Given the description of an element on the screen output the (x, y) to click on. 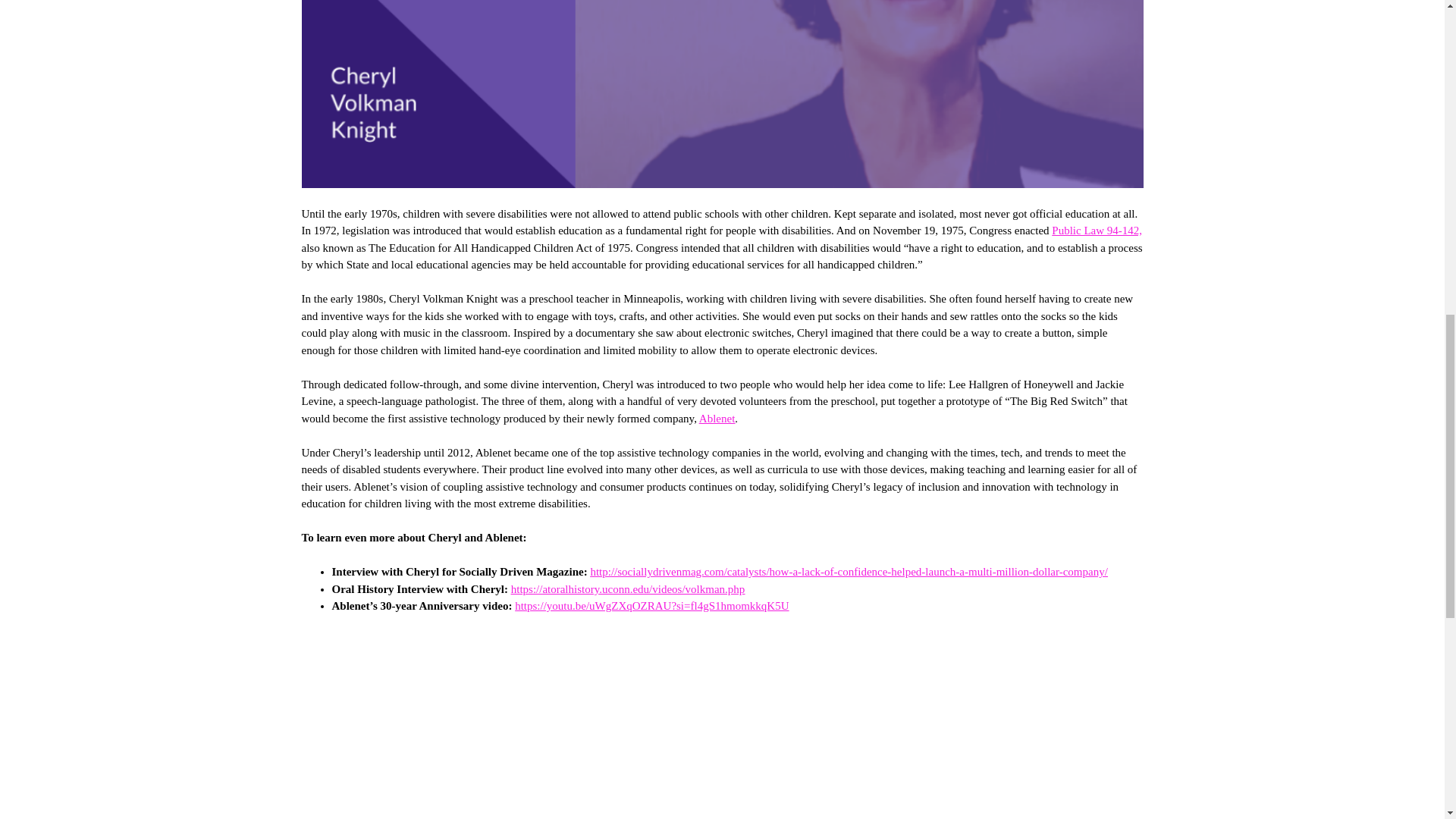
AbleNet 30-Year Anniversary (544, 725)
